Given the description of an element on the screen output the (x, y) to click on. 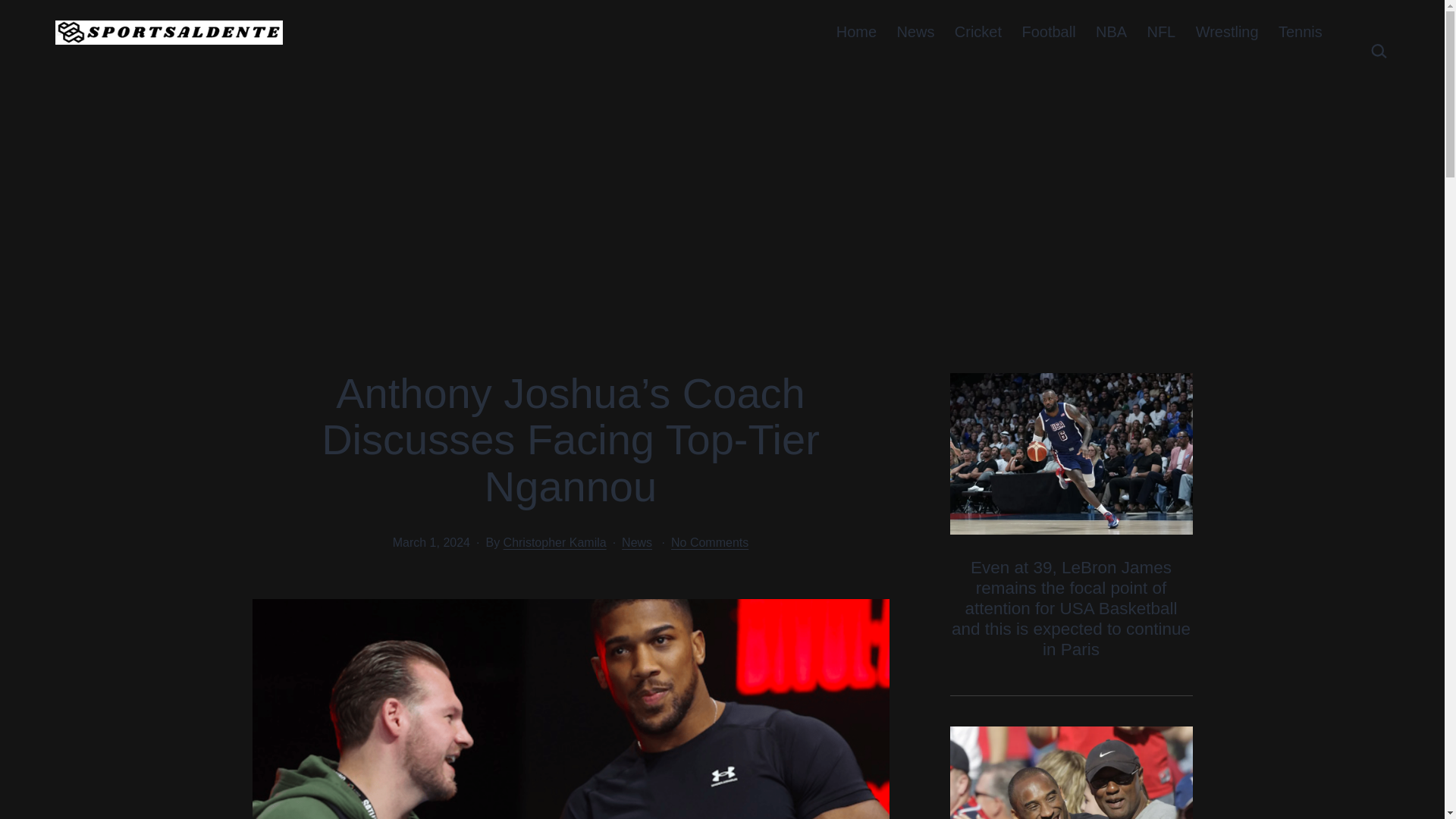
News (914, 31)
Home (856, 31)
NBA (1111, 31)
News (636, 542)
Tennis (1300, 31)
NFL (1161, 31)
Wrestling (1226, 31)
Cricket (977, 31)
Football (1048, 31)
Christopher Kamila (555, 542)
